Given the description of an element on the screen output the (x, y) to click on. 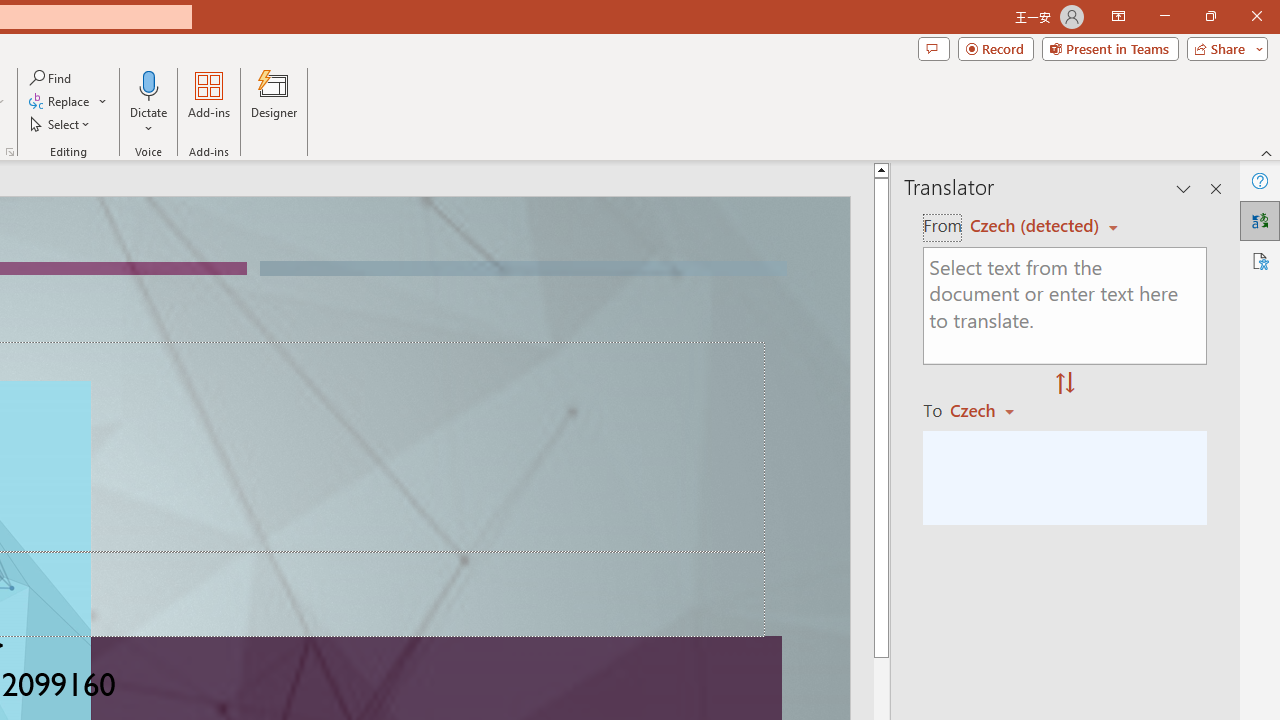
Czech (detected) (1037, 225)
